Given the description of an element on the screen output the (x, y) to click on. 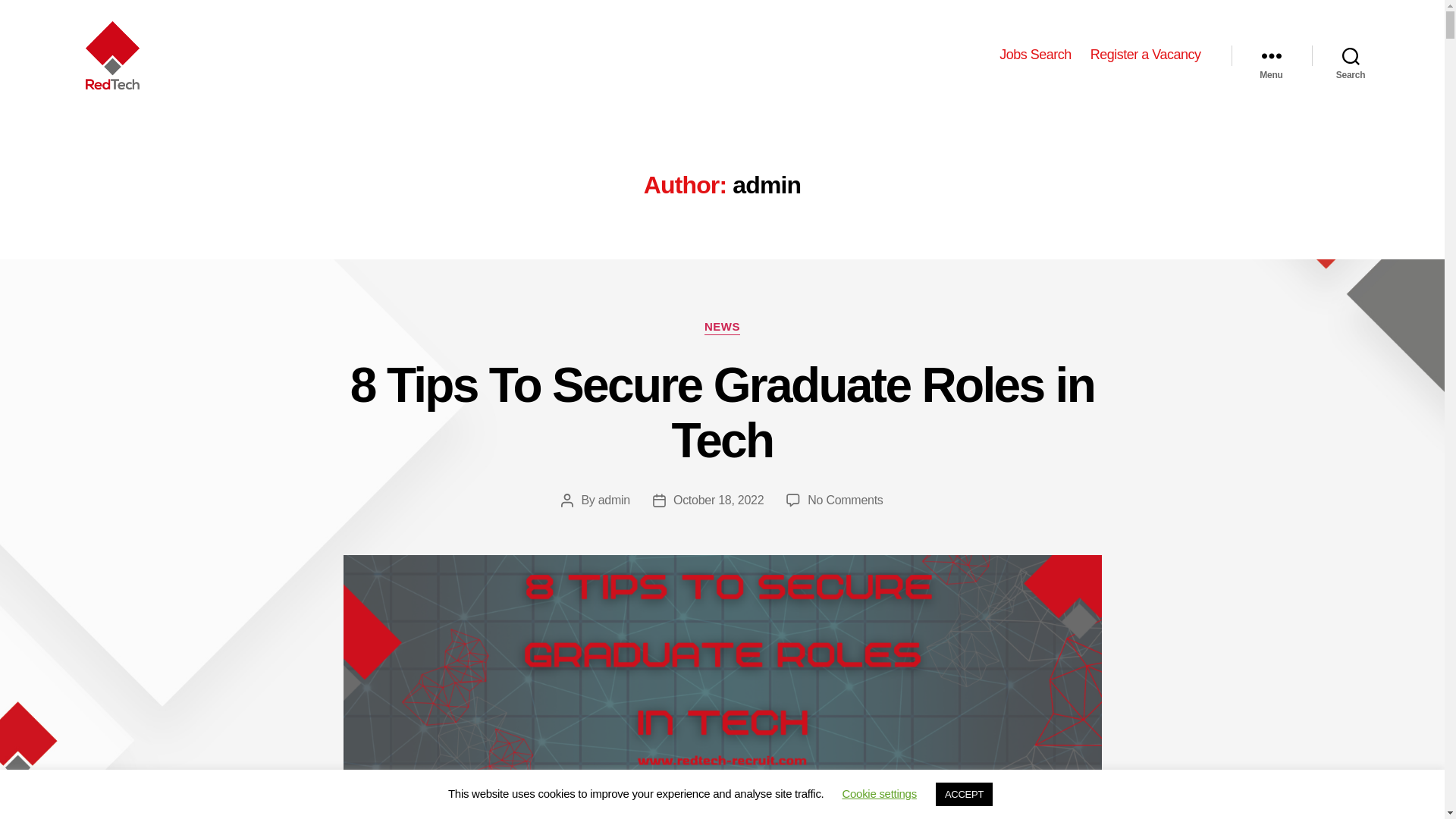
Menu (1271, 55)
Search (1350, 55)
8 Tips To Secure Graduate Roles in Tech (722, 412)
NEWS (721, 327)
Register a Vacancy (1145, 54)
Jobs Search (1034, 54)
